Given the description of an element on the screen output the (x, y) to click on. 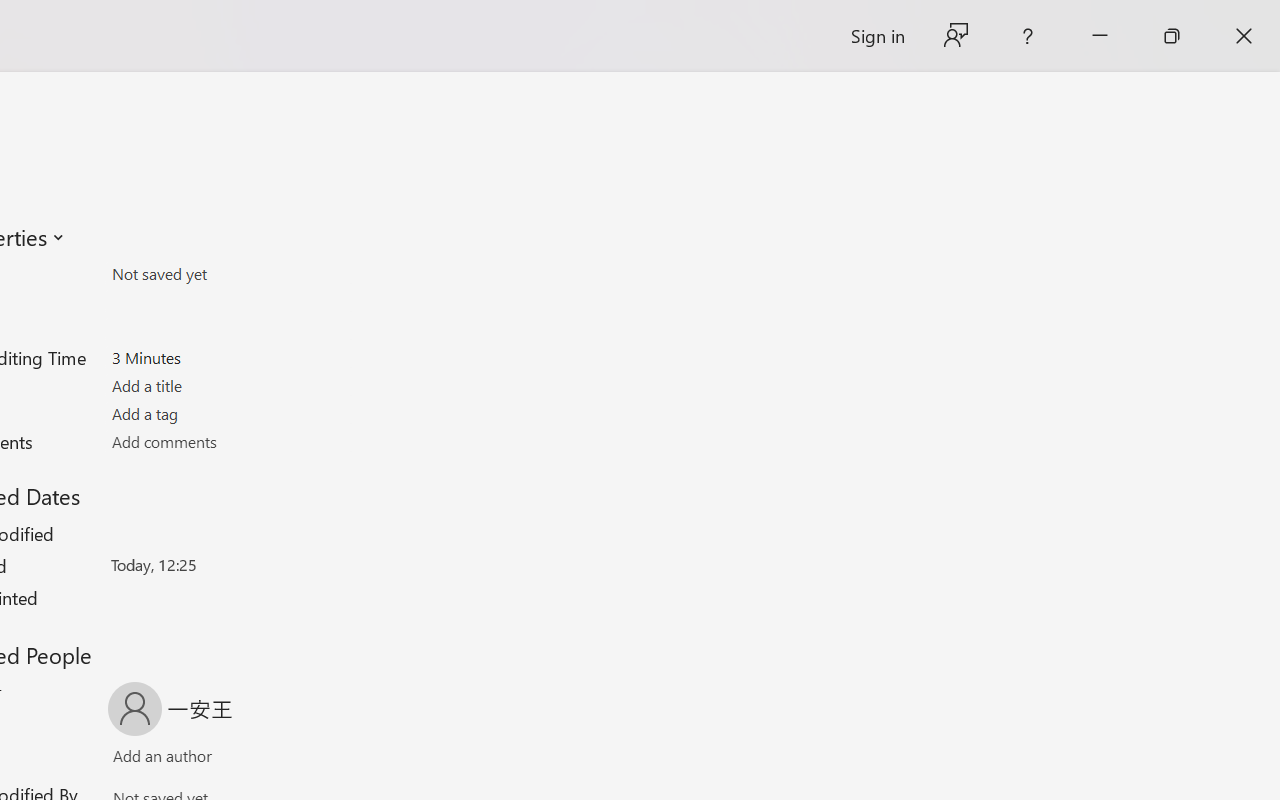
Title (228, 386)
Total Editing Time (228, 357)
